Given the description of an element on the screen output the (x, y) to click on. 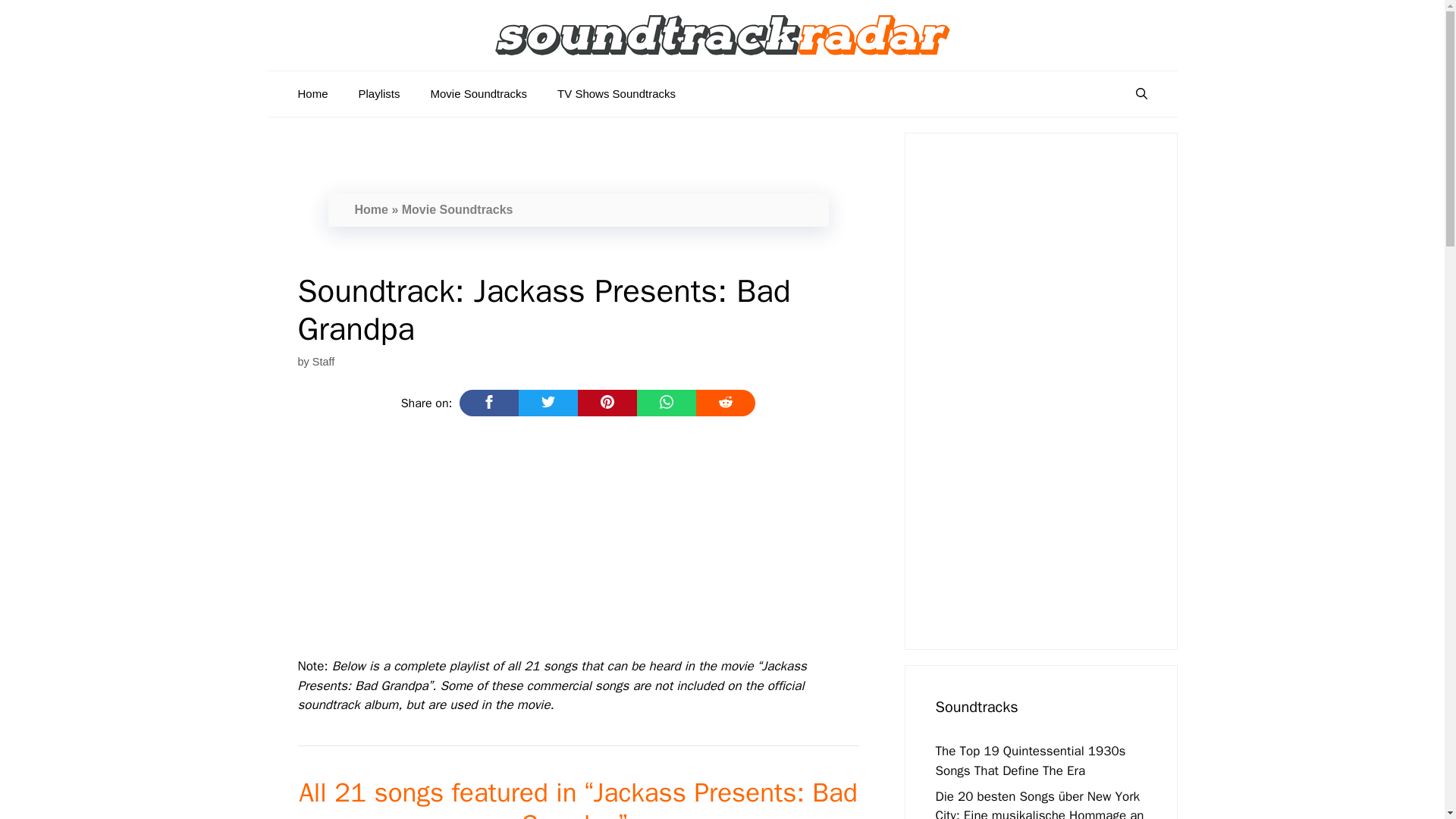
Soundtrackradar.com (722, 35)
View all posts by Staff (323, 361)
The Top 19 Quintessential 1930s Songs That Define The Era (1030, 760)
Soundtrackradar.com (722, 34)
Staff (323, 361)
TV Shows Soundtracks (615, 94)
Movie Soundtracks (478, 94)
Home (312, 94)
Playlists (378, 94)
Home (371, 209)
